Given the description of an element on the screen output the (x, y) to click on. 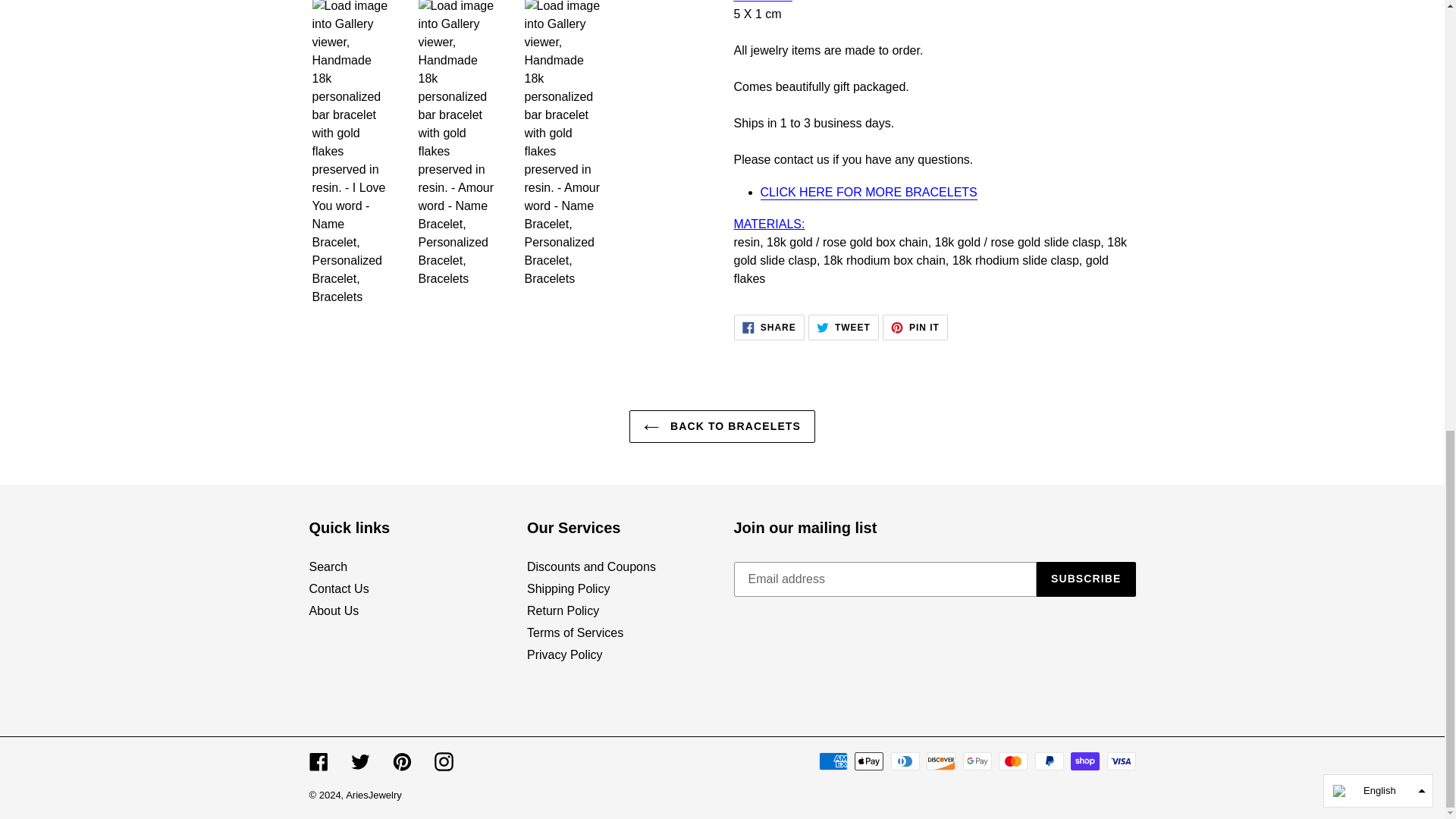
bracelets (868, 192)
